Given the description of an element on the screen output the (x, y) to click on. 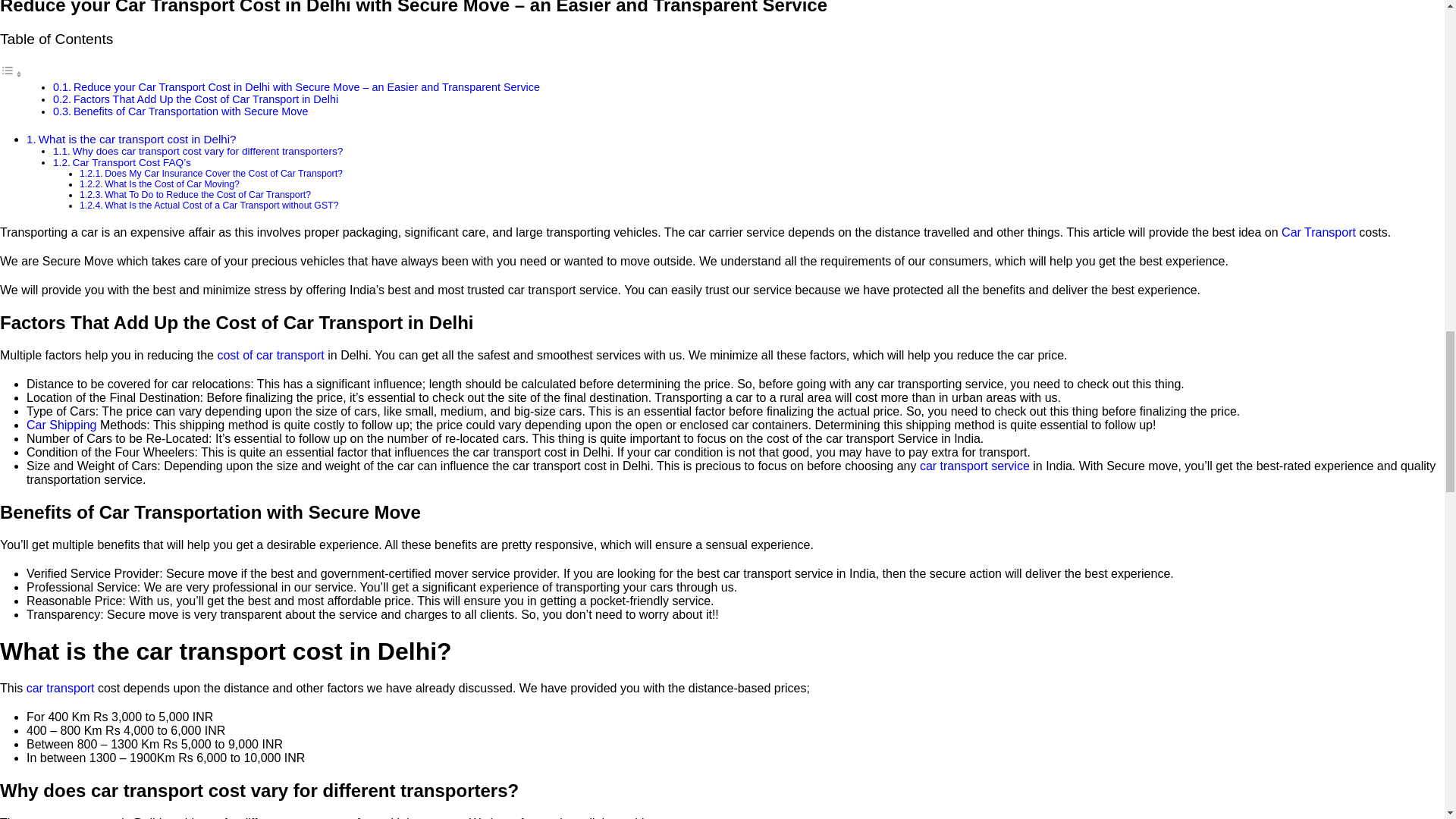
Benefits of Car Transportation with Secure Move (191, 111)
What To Do to Reduce the Cost of Car Transport? (207, 194)
Does My Car Insurance Cover the Cost of Car Transport? (223, 173)
Why does car transport cost vary for different transporters? (207, 151)
Factors That Add Up the Cost of Car Transport in Delhi (205, 99)
What Is the Actual Cost of a Car Transport without GST? (220, 204)
What is the car transport cost in Delhi? (137, 138)
What Is the Cost of Car Moving? (172, 184)
